Given the description of an element on the screen output the (x, y) to click on. 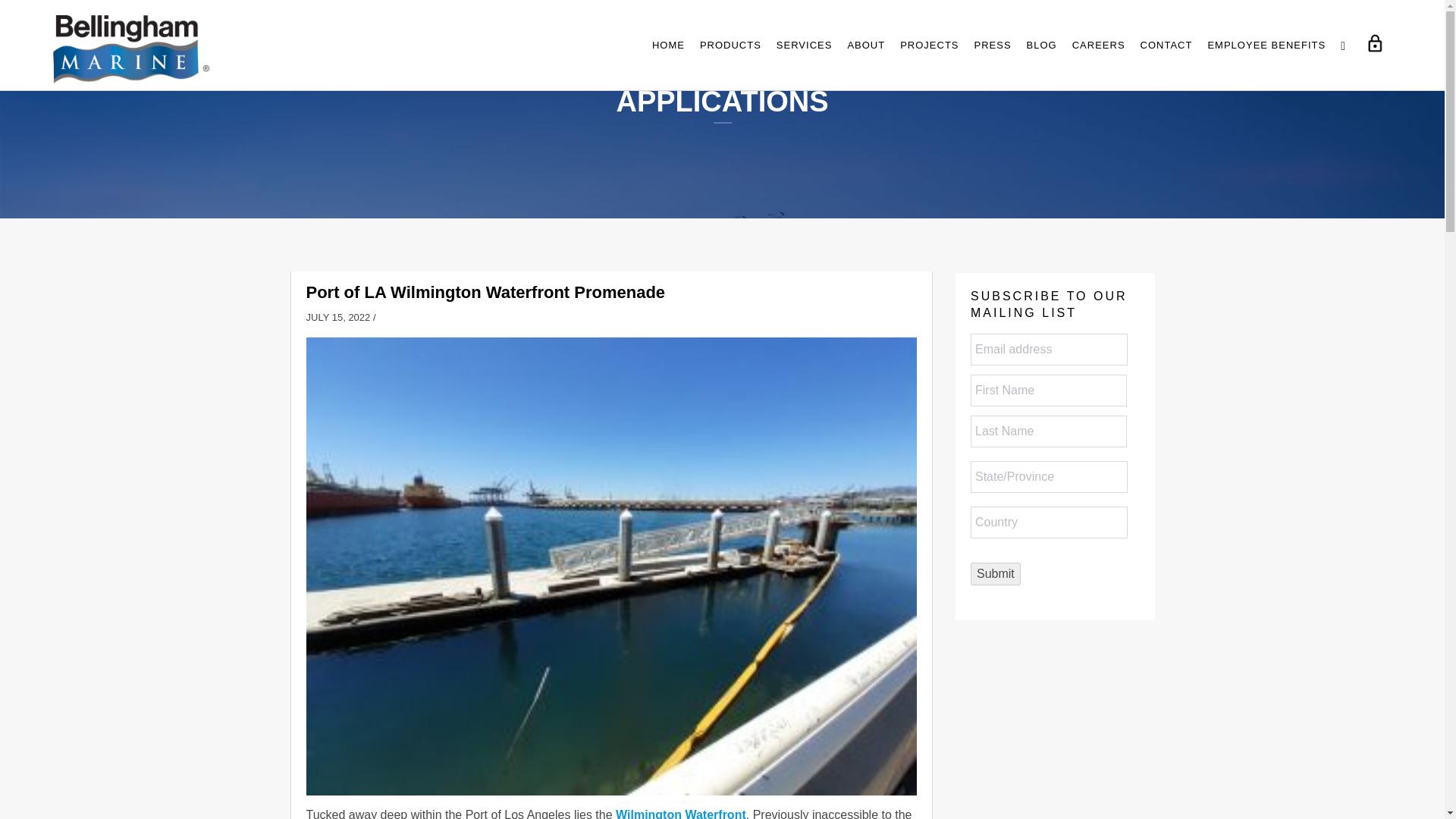
Port of LA Wilmington Waterfront Promenade (485, 292)
Bellingham Marine (130, 49)
Submit (995, 573)
